Given the description of an element on the screen output the (x, y) to click on. 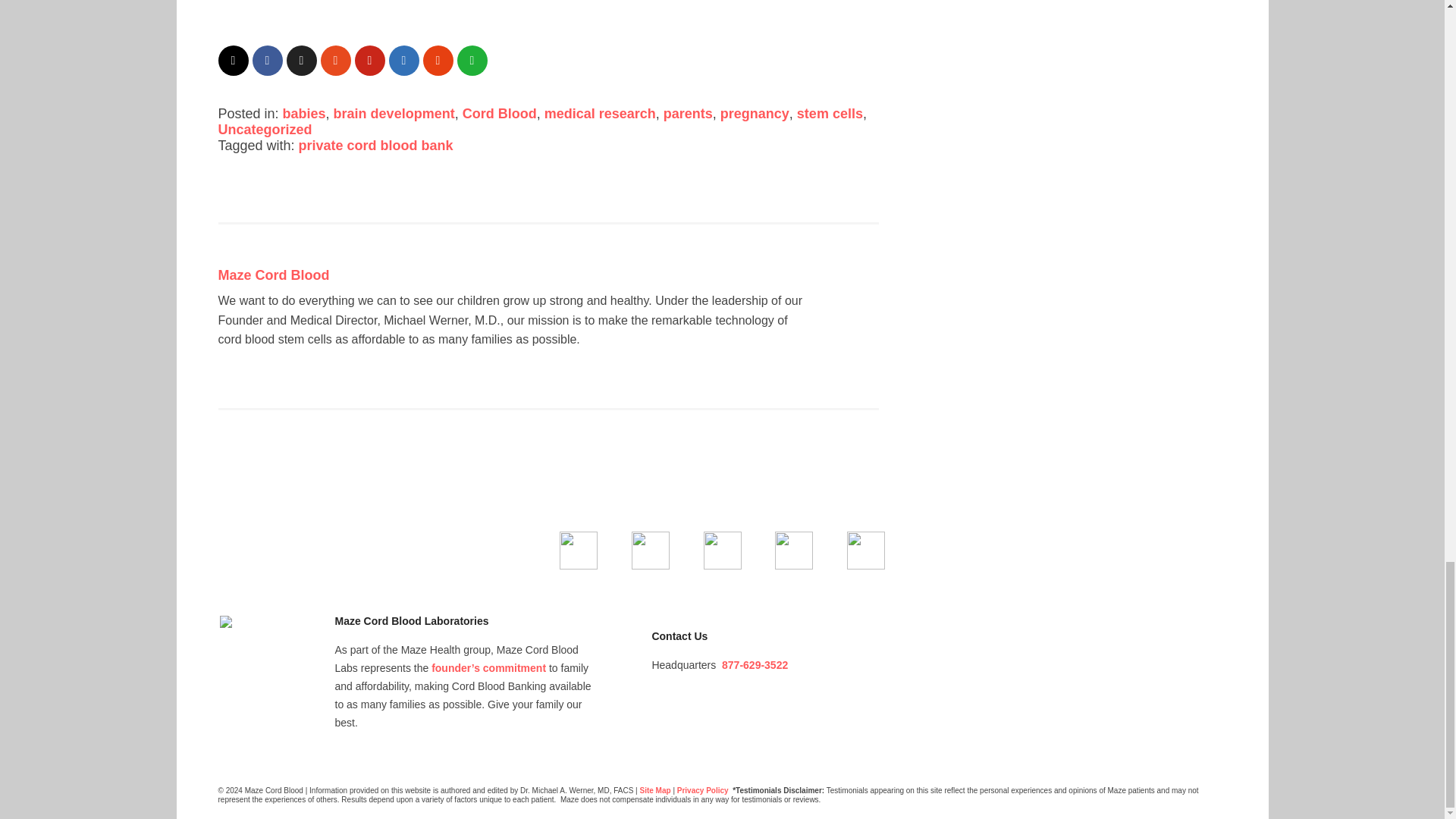
babies (304, 113)
pregnancy (754, 113)
brain development (393, 113)
parents (688, 113)
medical research (600, 113)
Posts by Maze Cord Blood (274, 274)
Cord Blood (500, 113)
